Given the description of an element on the screen output the (x, y) to click on. 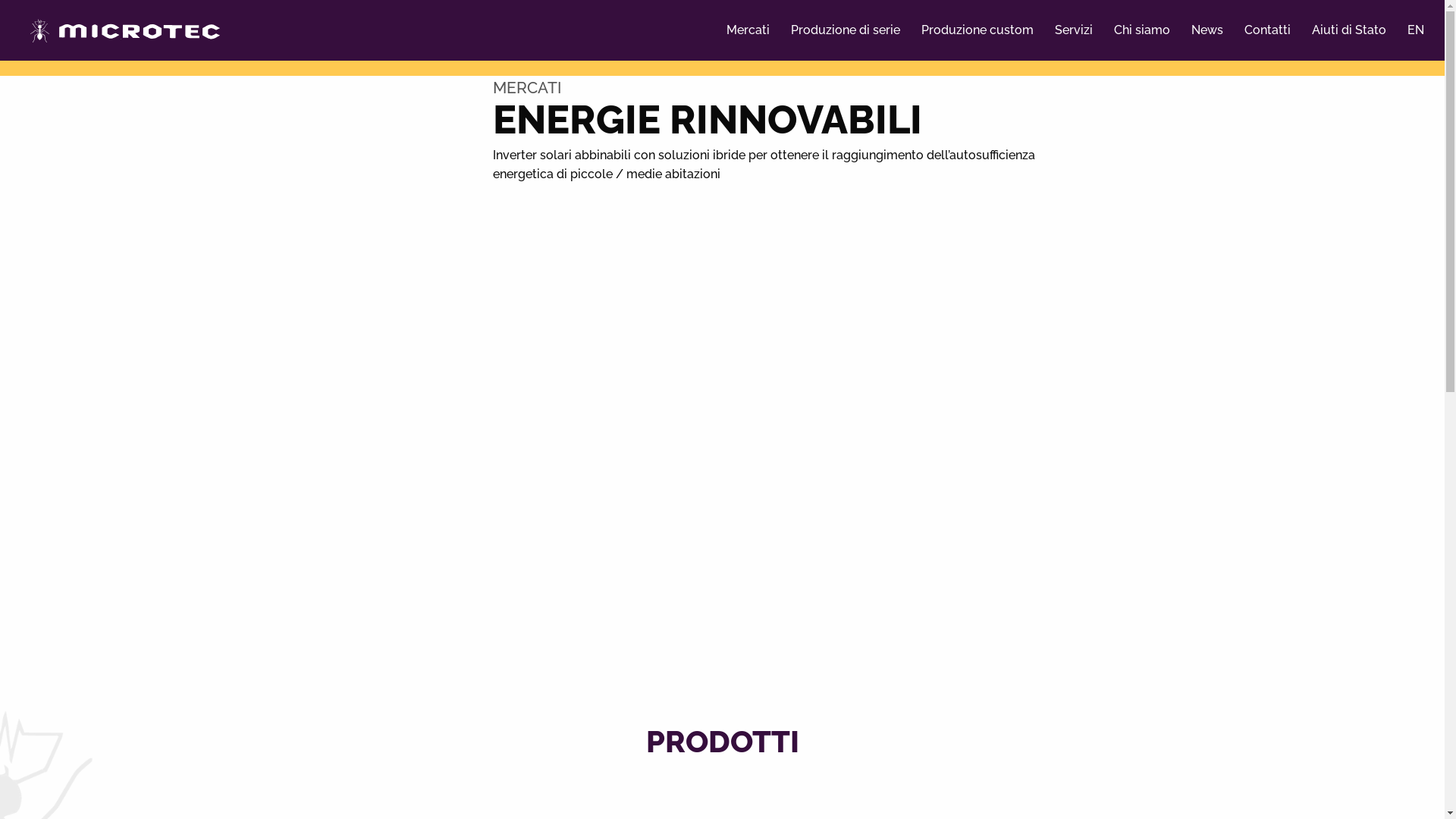
Contatti Element type: text (1267, 30)
News Element type: text (1207, 30)
Chi siamo Element type: text (1141, 30)
Microtec Element type: text (124, 37)
Aiuti di Stato Element type: text (1348, 30)
EN Element type: text (1415, 30)
Servizi Element type: text (1073, 30)
Mercati Element type: text (747, 30)
Produzione di serie Element type: text (845, 30)
Produzione custom Element type: text (977, 30)
